Given the description of an element on the screen output the (x, y) to click on. 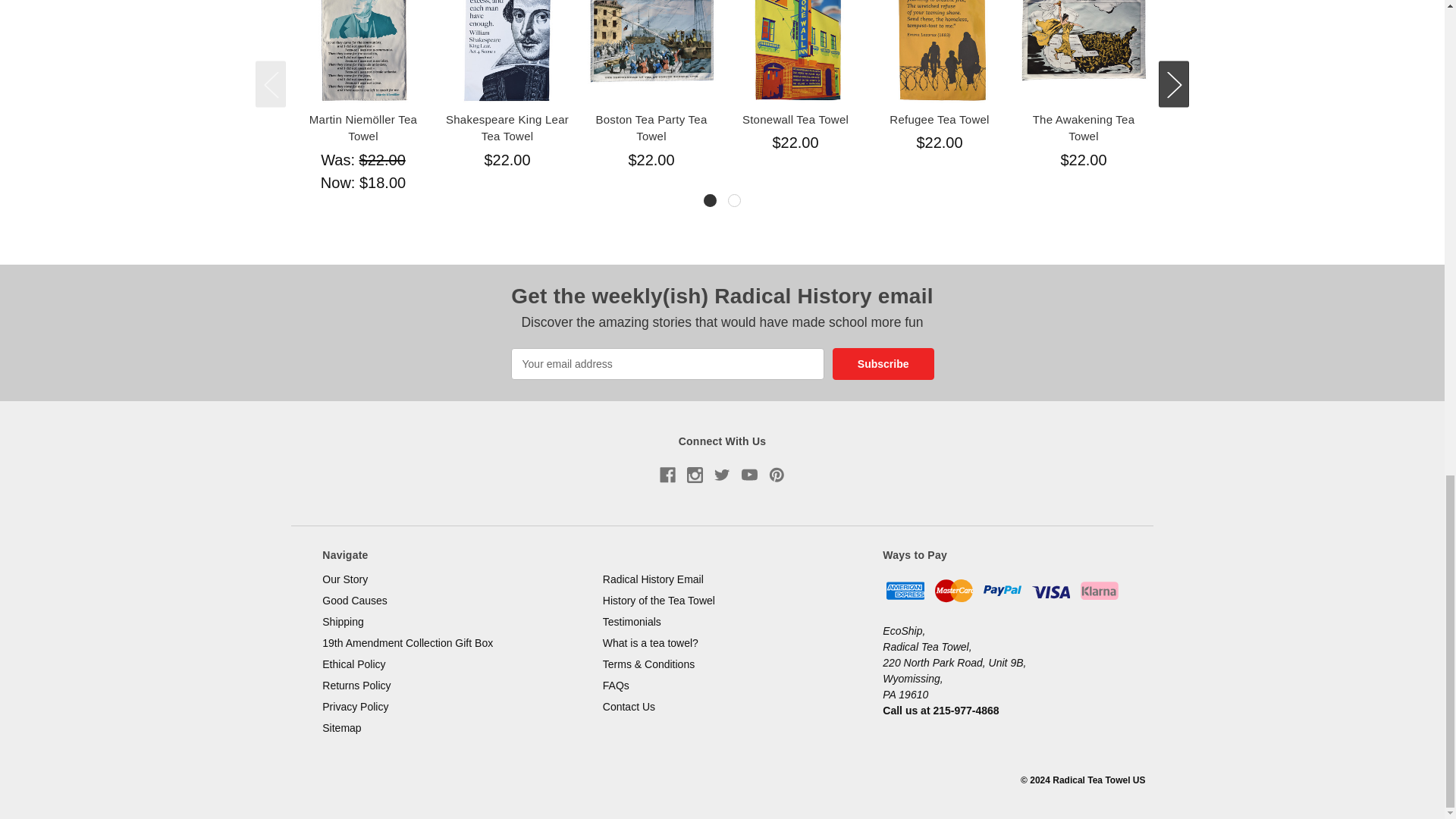
Subscribe (883, 364)
